Given the description of an element on the screen output the (x, y) to click on. 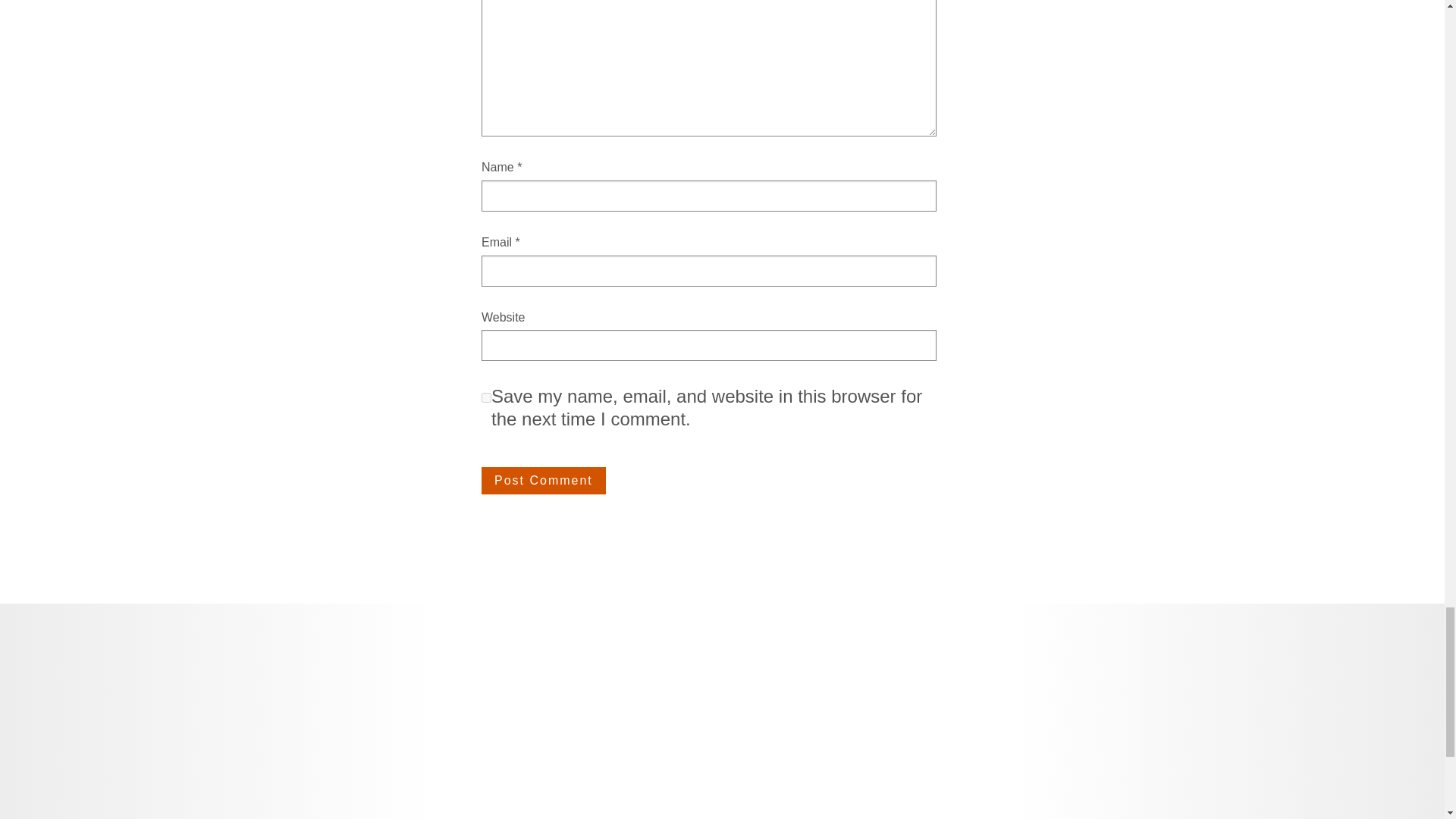
yes (486, 397)
Post Comment (543, 480)
Post Comment (543, 480)
